Given the description of an element on the screen output the (x, y) to click on. 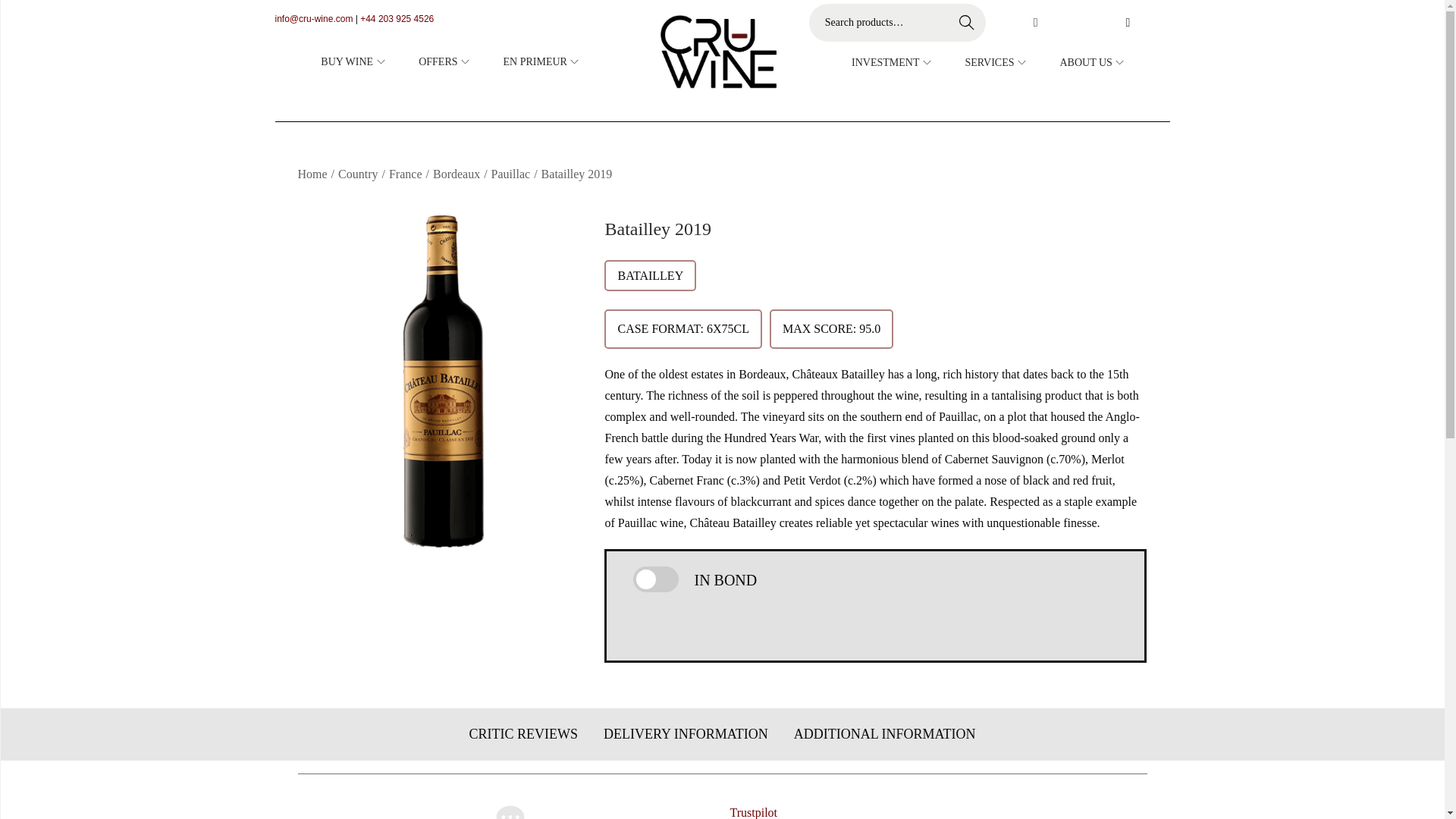
BUY WINE (354, 61)
icon-message.png (510, 810)
